Given the description of an element on the screen output the (x, y) to click on. 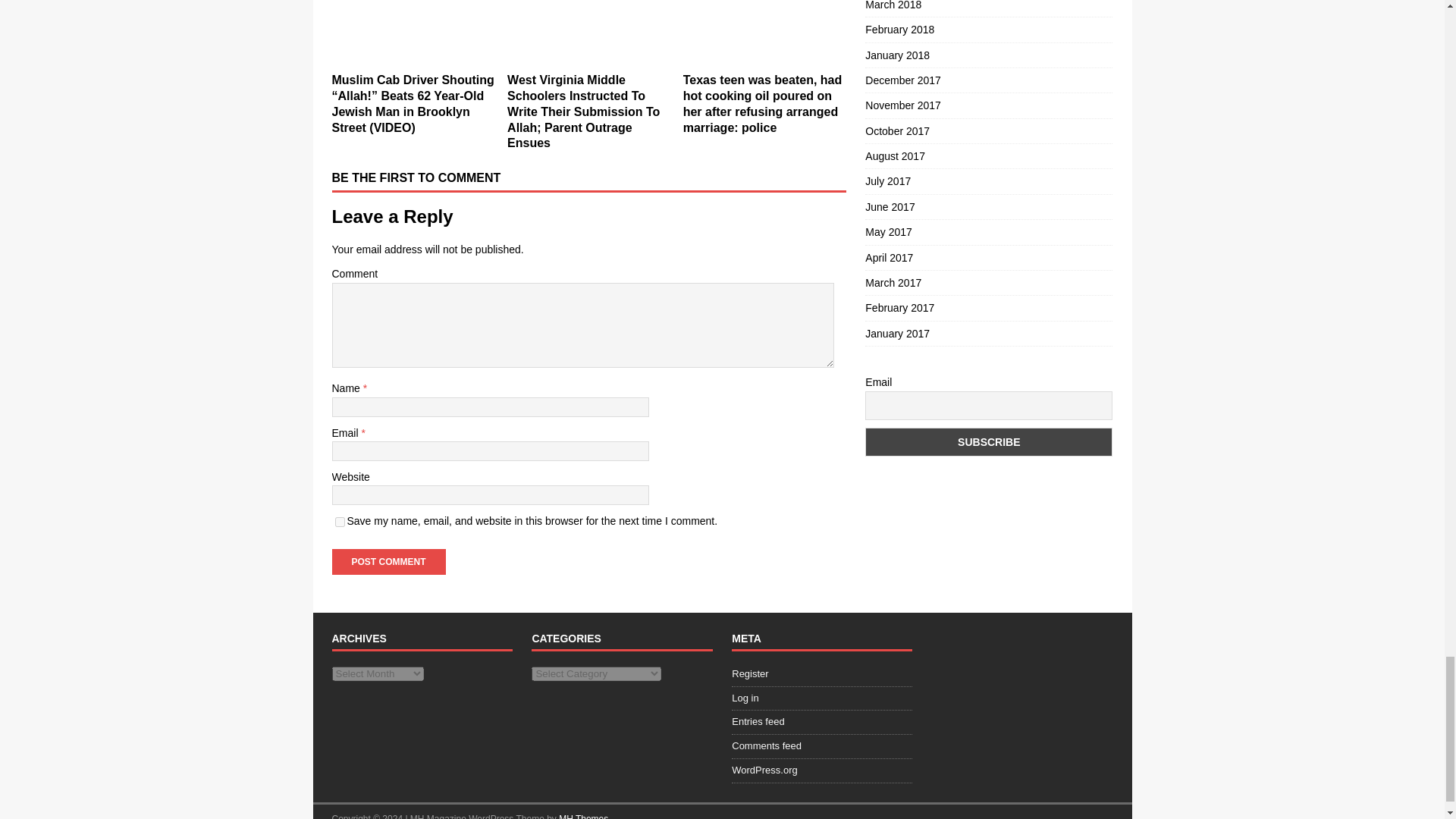
Post Comment (388, 561)
yes (339, 521)
Subscribe (988, 440)
